Given the description of an element on the screen output the (x, y) to click on. 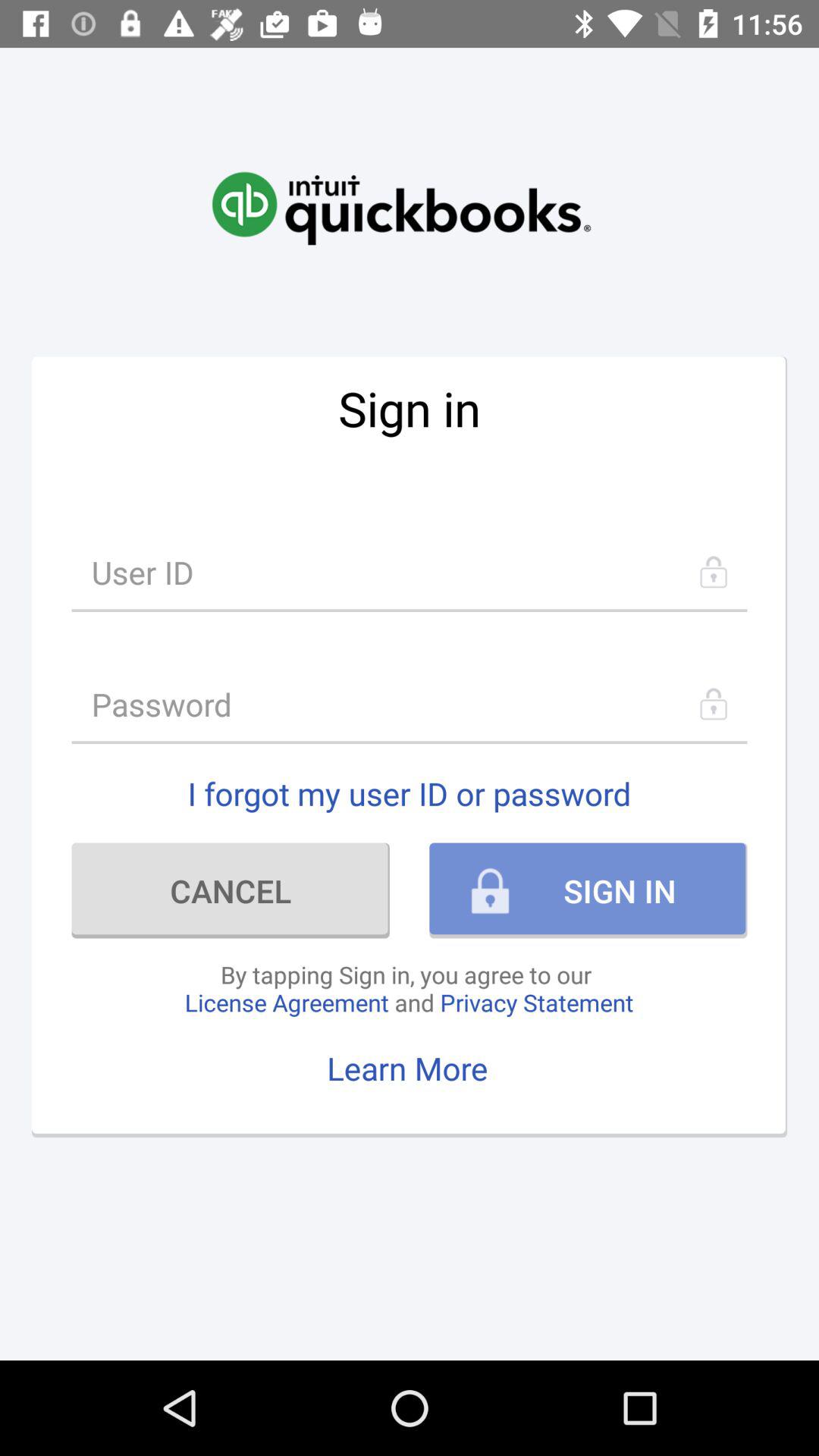
login password (409, 703)
